Given the description of an element on the screen output the (x, y) to click on. 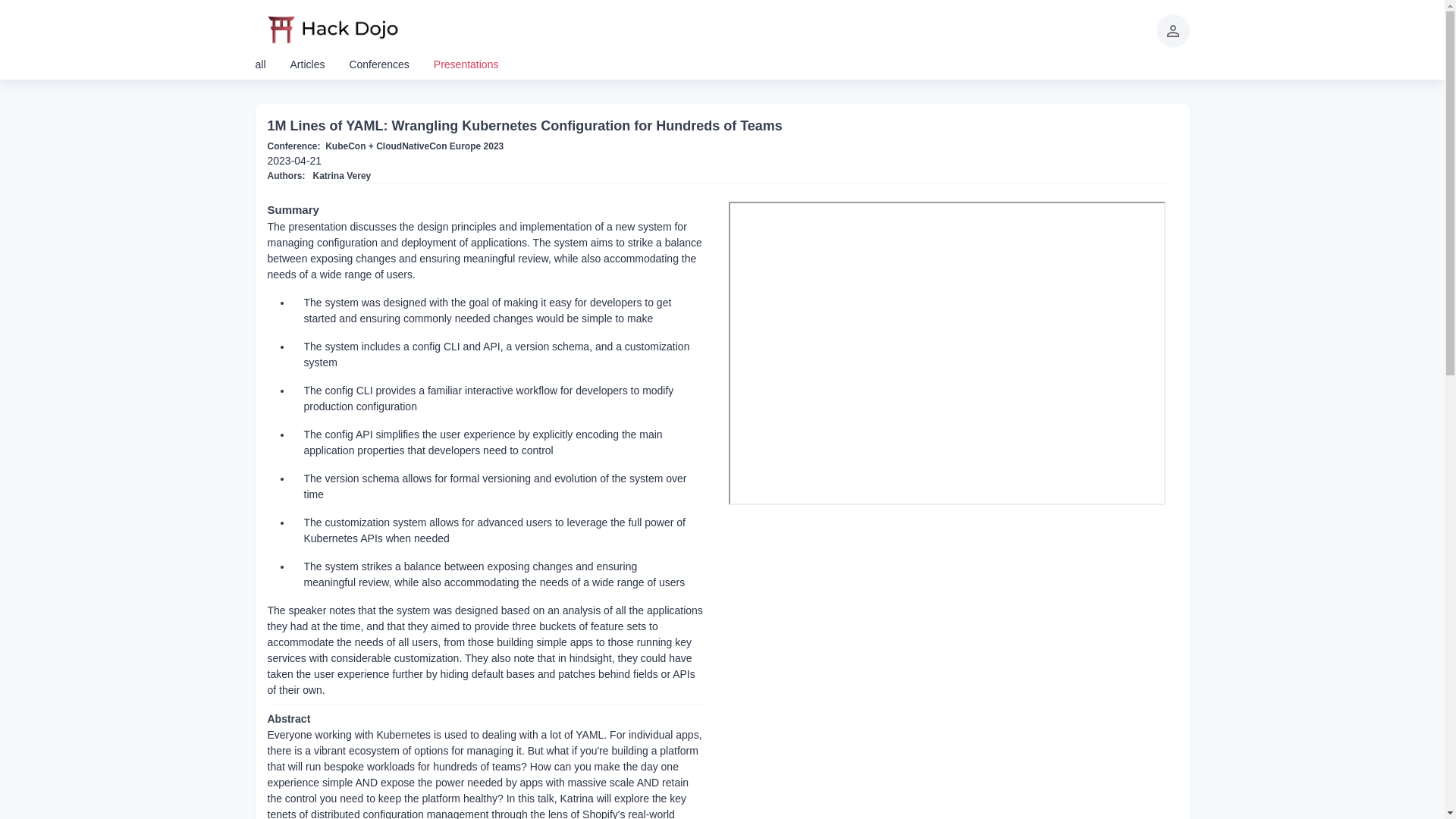
Presentations (466, 64)
Conferences (379, 64)
Articles (306, 64)
